Given the description of an element on the screen output the (x, y) to click on. 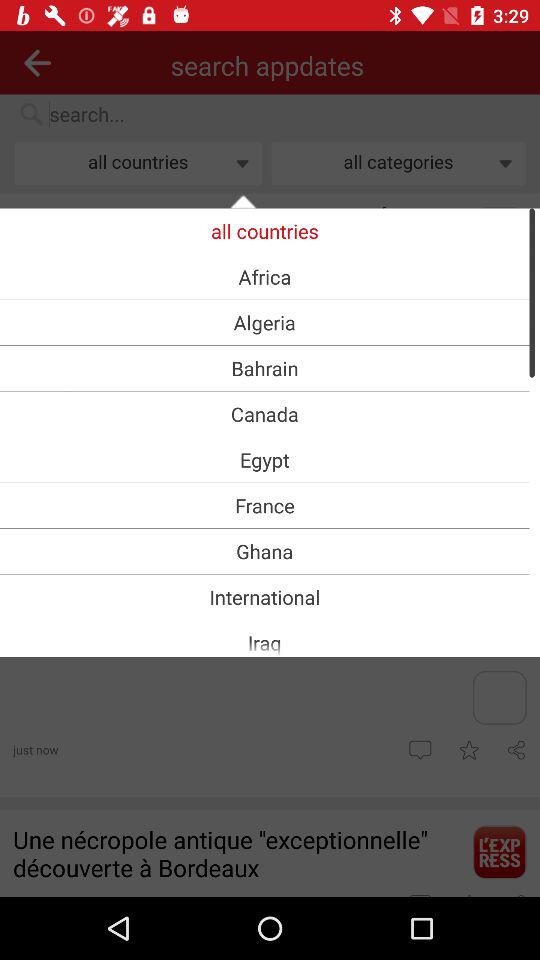
turn off the item below international item (264, 642)
